Given the description of an element on the screen output the (x, y) to click on. 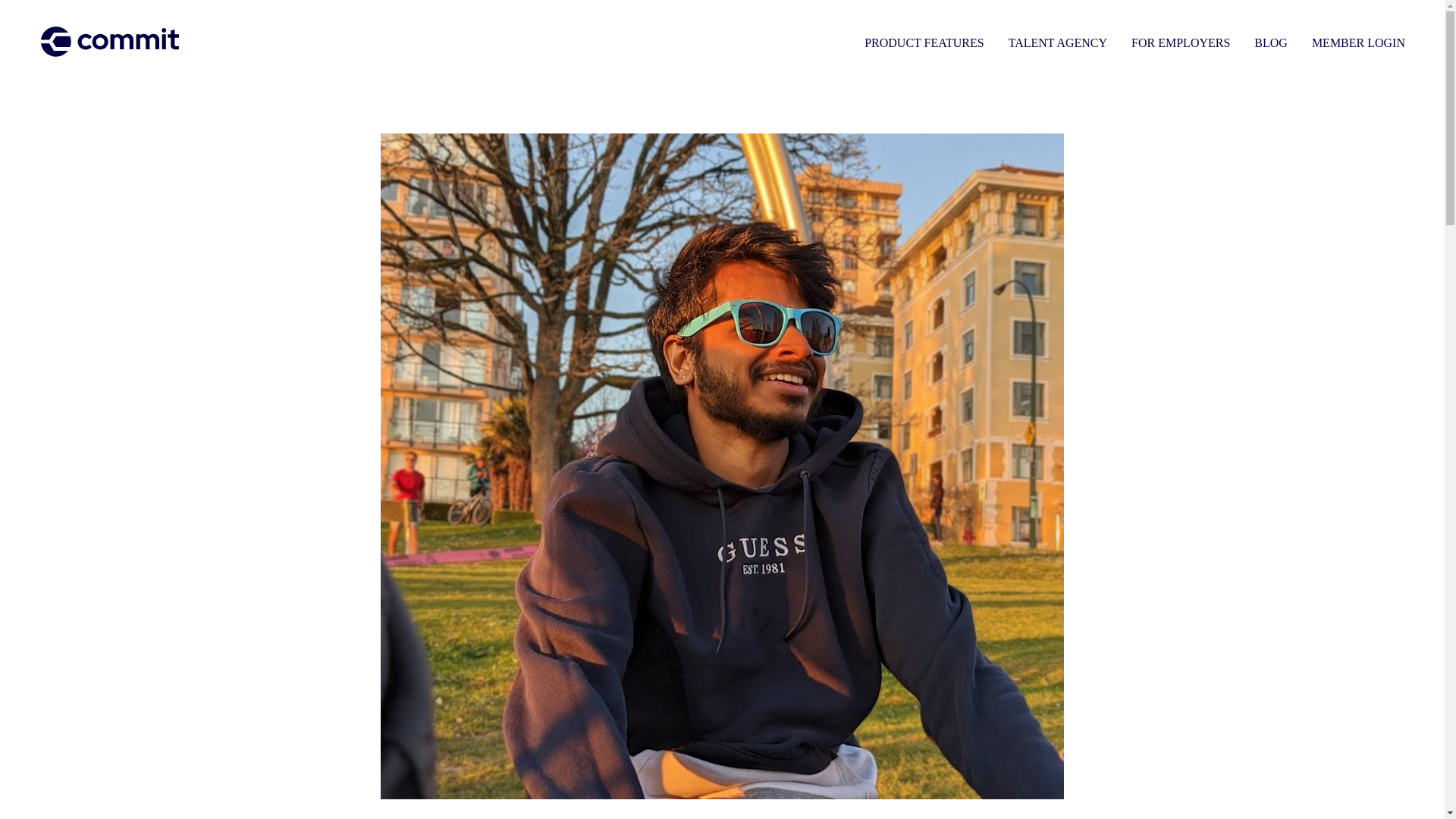
TALENT AGENCY (1057, 42)
BLOG (1270, 42)
FOR EMPLOYERS (1180, 42)
PRODUCT FEATURES (924, 42)
MEMBER LOGIN (1358, 42)
